Given the description of an element on the screen output the (x, y) to click on. 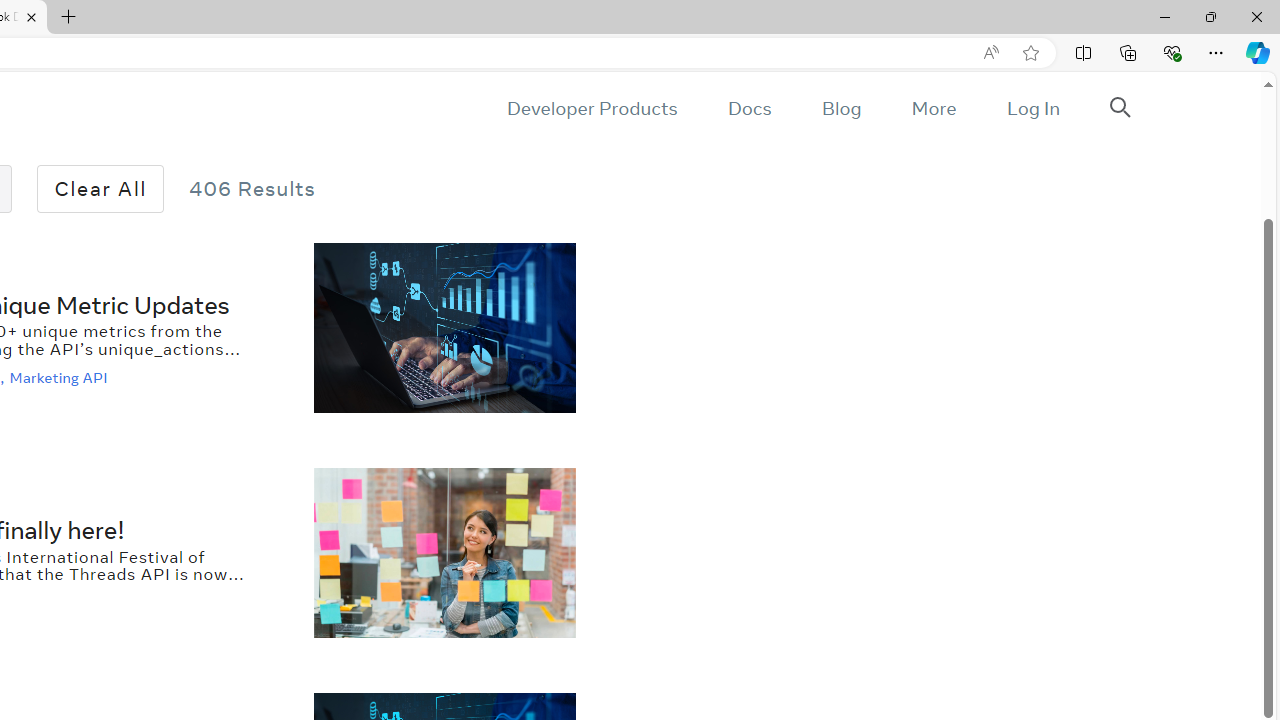
Blog (841, 108)
Docs (749, 108)
Marketing API (60, 377)
Log In (1032, 108)
Close tab (31, 16)
Log In (1032, 108)
Settings and more (Alt+F) (1215, 52)
More (933, 108)
